Given the description of an element on the screen output the (x, y) to click on. 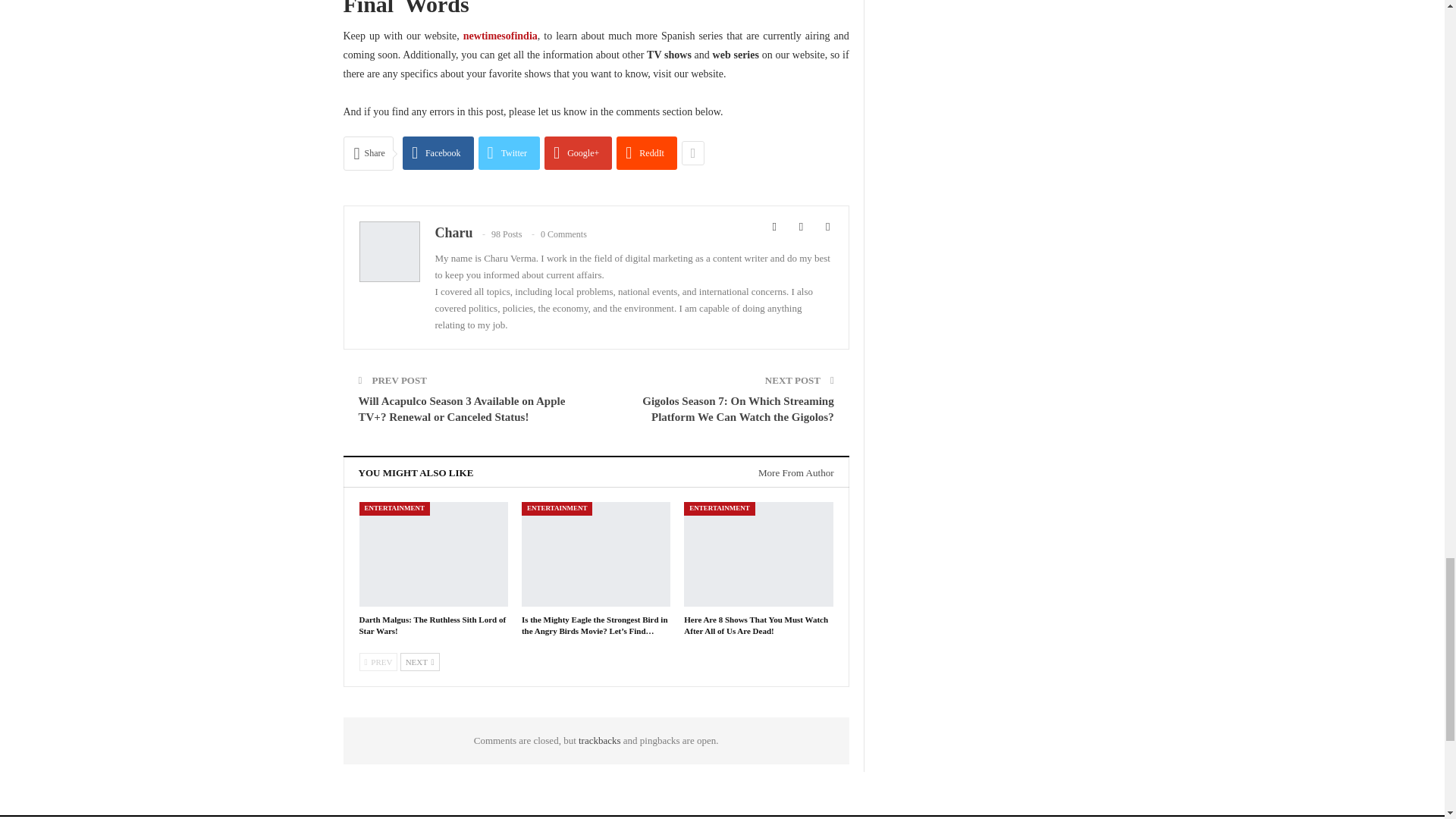
Facebook (438, 152)
Darth Malgus: The Ruthless Sith Lord of Star Wars! (432, 625)
newtimesofindia (500, 35)
Twitter (509, 152)
Darth Malgus: The Ruthless Sith Lord of Star Wars! (433, 554)
Previous (378, 661)
ReddIt (646, 152)
